Given the description of an element on the screen output the (x, y) to click on. 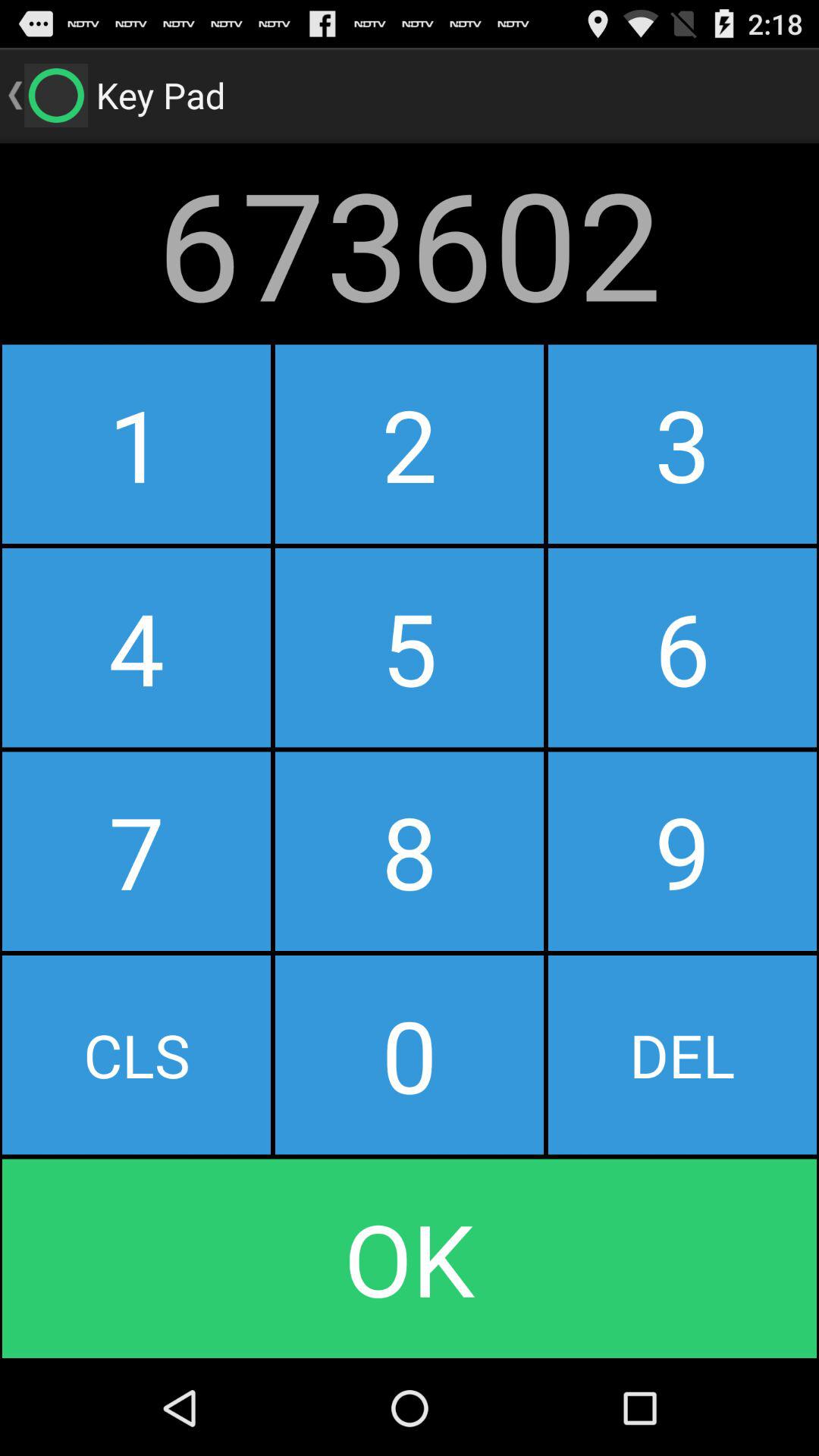
click item next to the 2 icon (136, 647)
